Given the description of an element on the screen output the (x, y) to click on. 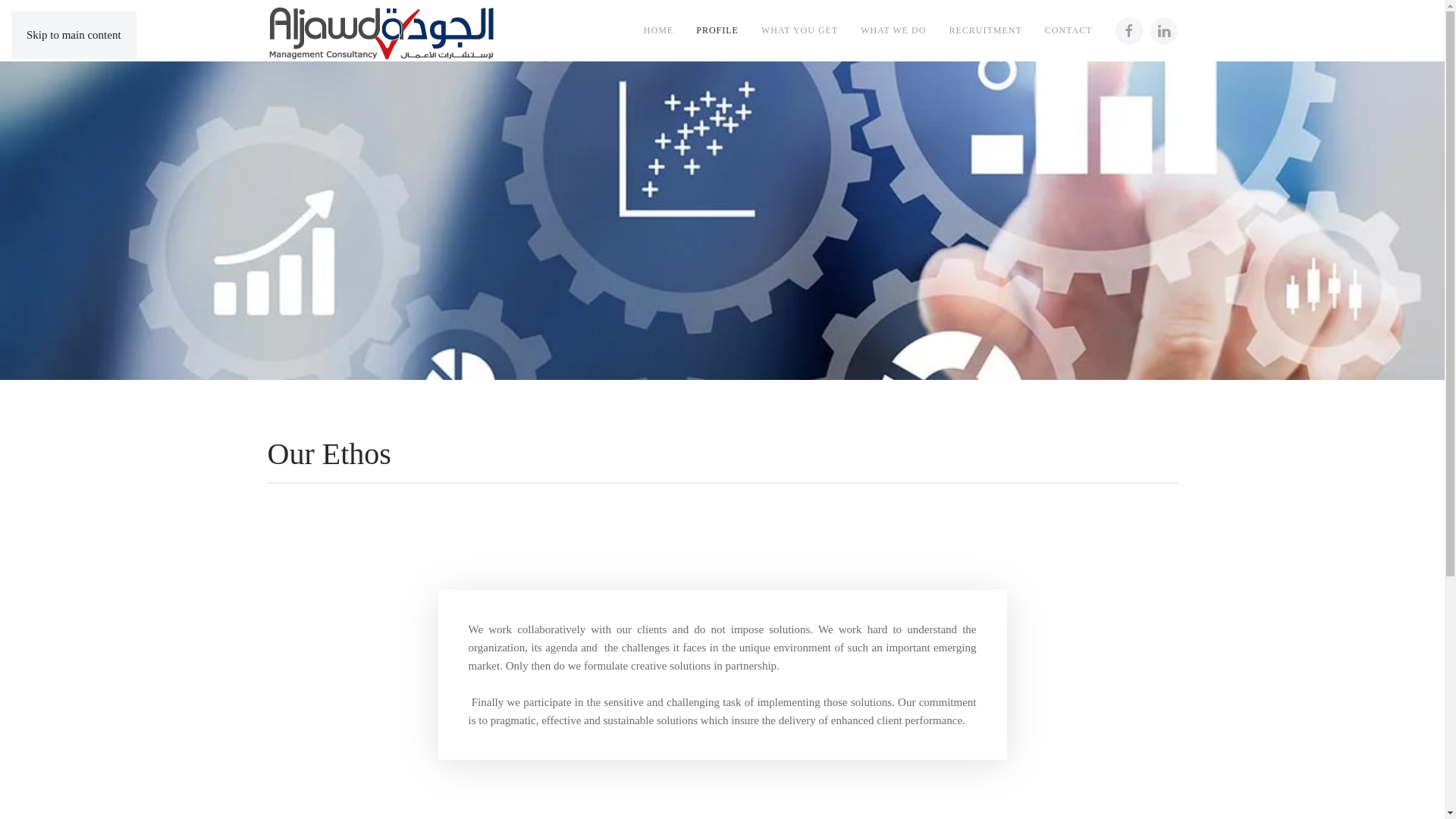
HOME (657, 30)
WHAT YOU GET (798, 30)
Skip to main content (73, 34)
PROFILE (716, 30)
CONTACT (1068, 30)
RECRUITMENT (984, 30)
WHAT WE DO (892, 30)
